Given the description of an element on the screen output the (x, y) to click on. 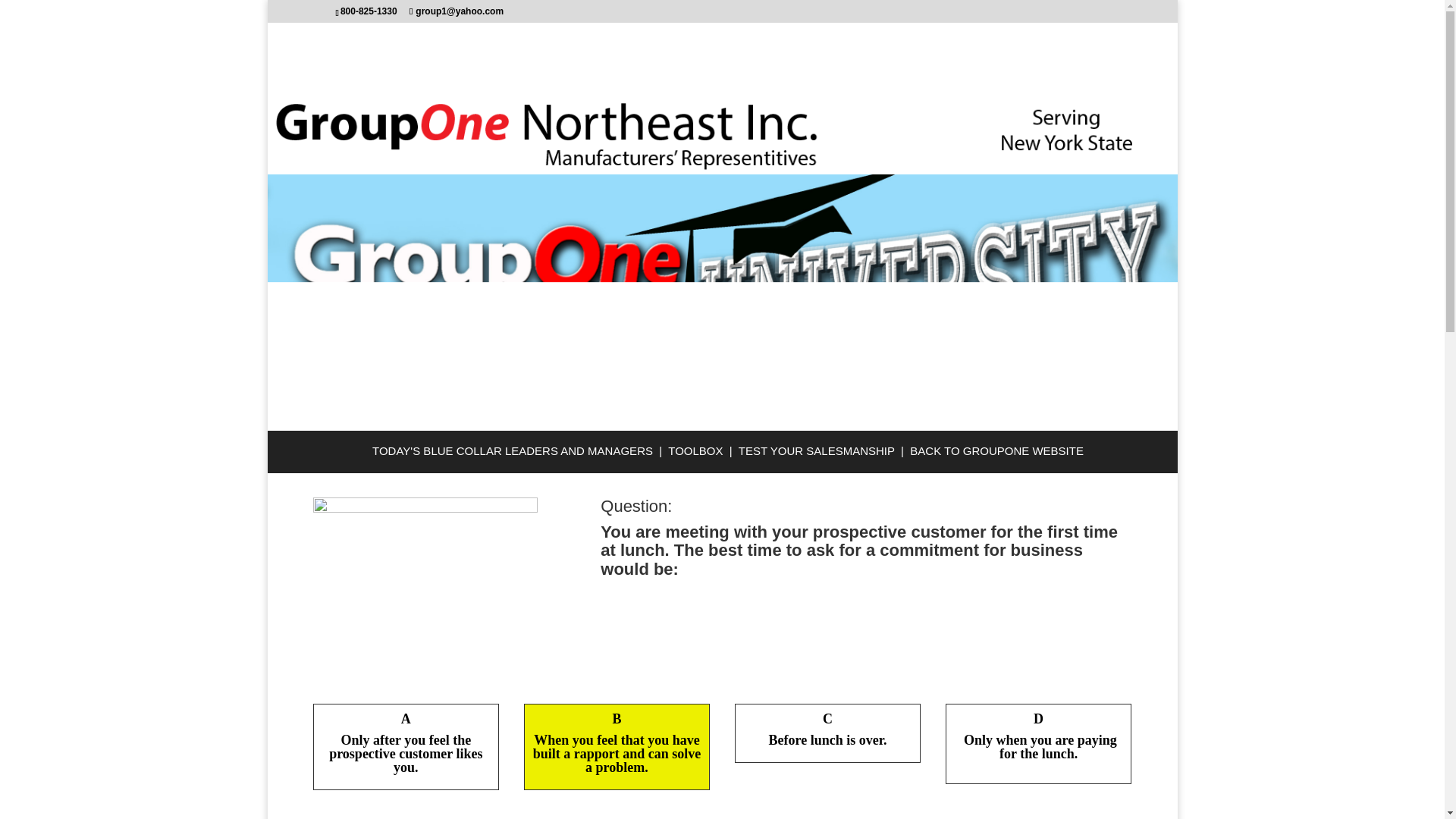
BACK TO GROUPONE WEBSITE (995, 450)
TODAY'S BLUE COLLAR LEADERS AND MANAGERS (512, 450)
TEST YOUR SALESMANSHIP (816, 450)
TOOLBOX (695, 450)
